Given the description of an element on the screen output the (x, y) to click on. 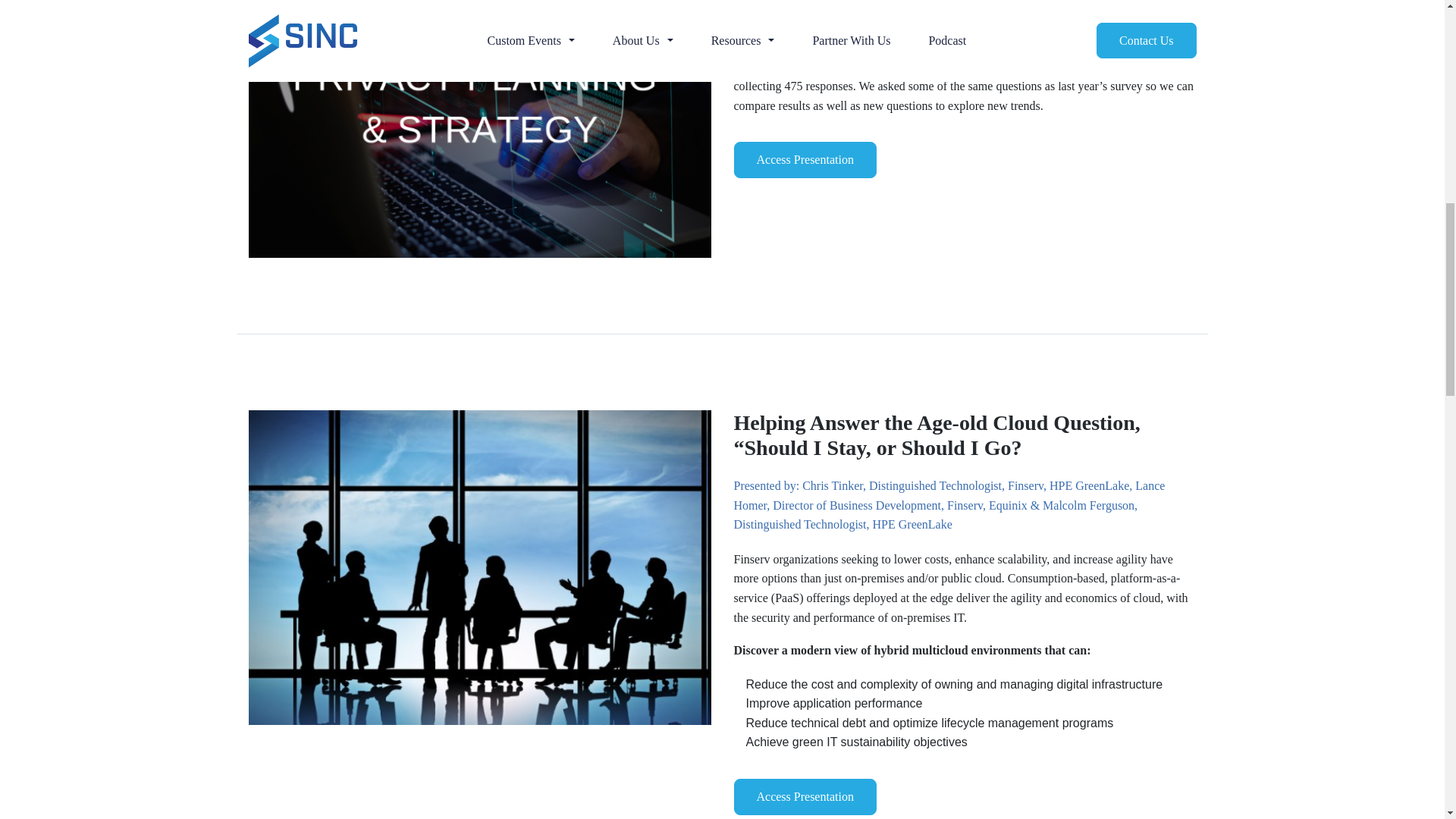
Access Presentation (804, 796)
Access Presentation (804, 159)
